Given the description of an element on the screen output the (x, y) to click on. 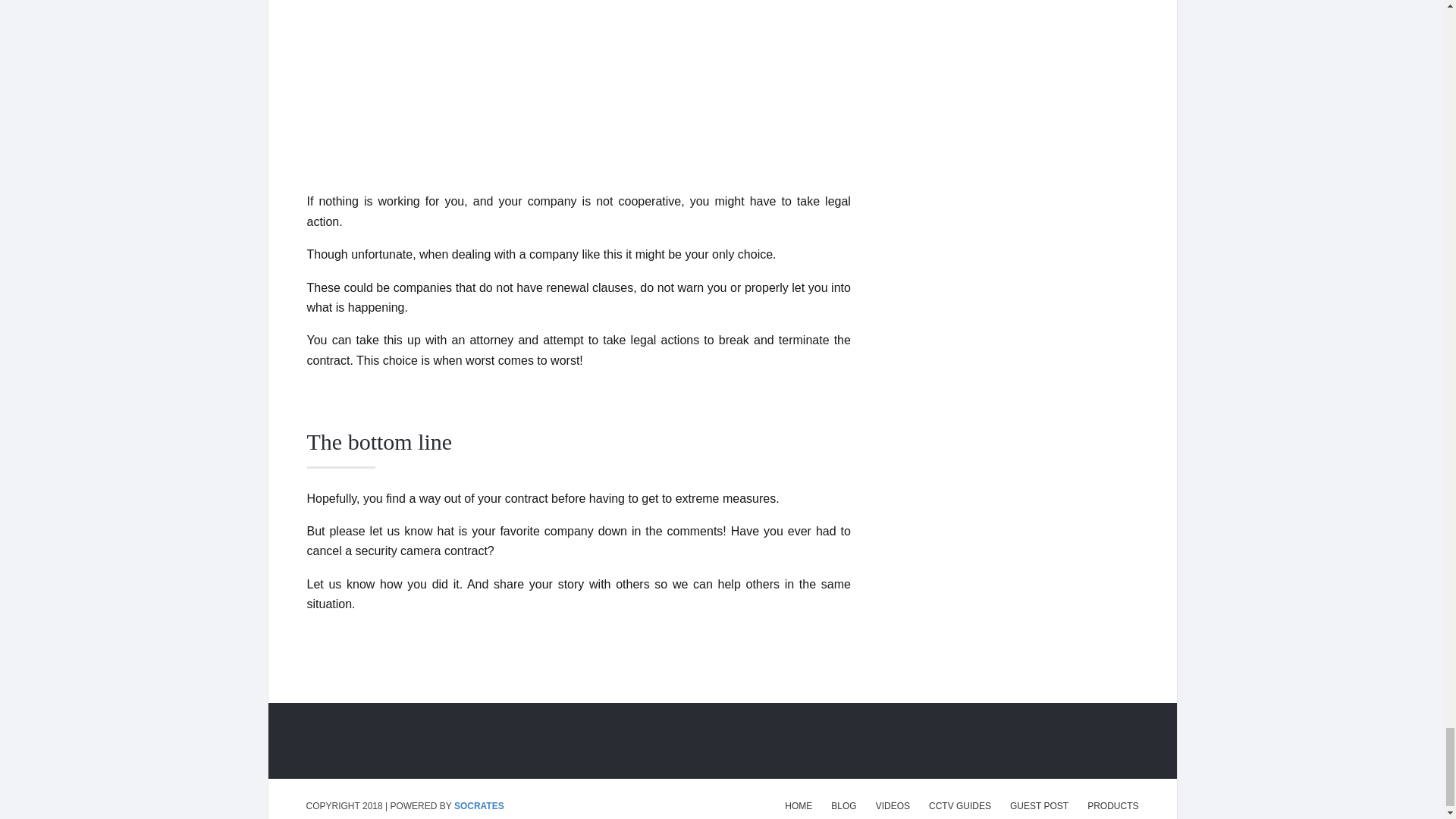
CCTV GUIDES (959, 805)
HOME (798, 805)
VIDEOS (893, 805)
GUEST POST (1039, 805)
PRODUCTS (1112, 805)
SOCRATES (478, 805)
Legal actions to cancel a security camera contract (578, 88)
BLOG (843, 805)
